Given the description of an element on the screen output the (x, y) to click on. 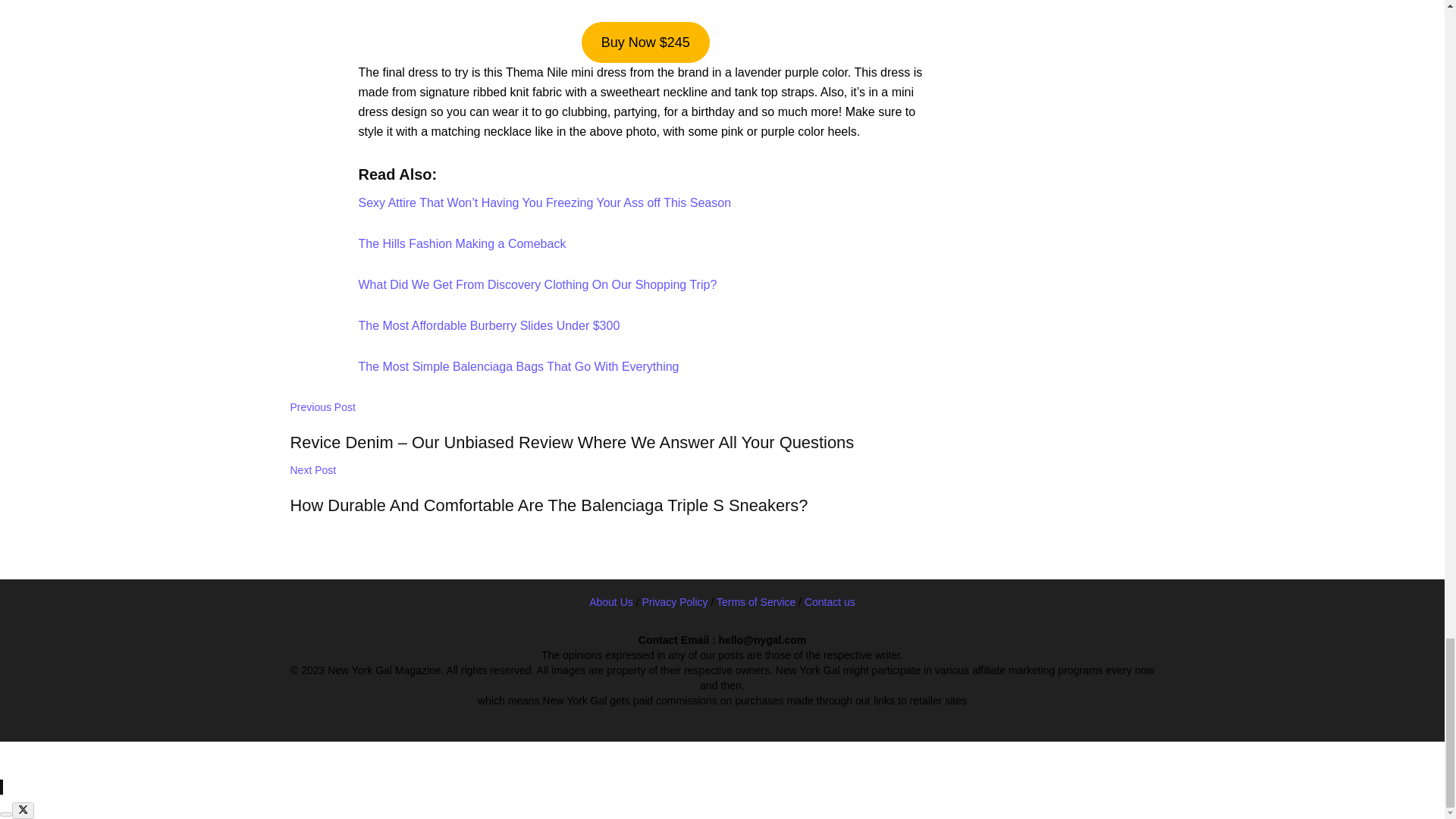
The Hills Fashion Making a Comeback (462, 243)
The Most Simple Balenciaga Bags That Go With Everything (518, 366)
